Given the description of an element on the screen output the (x, y) to click on. 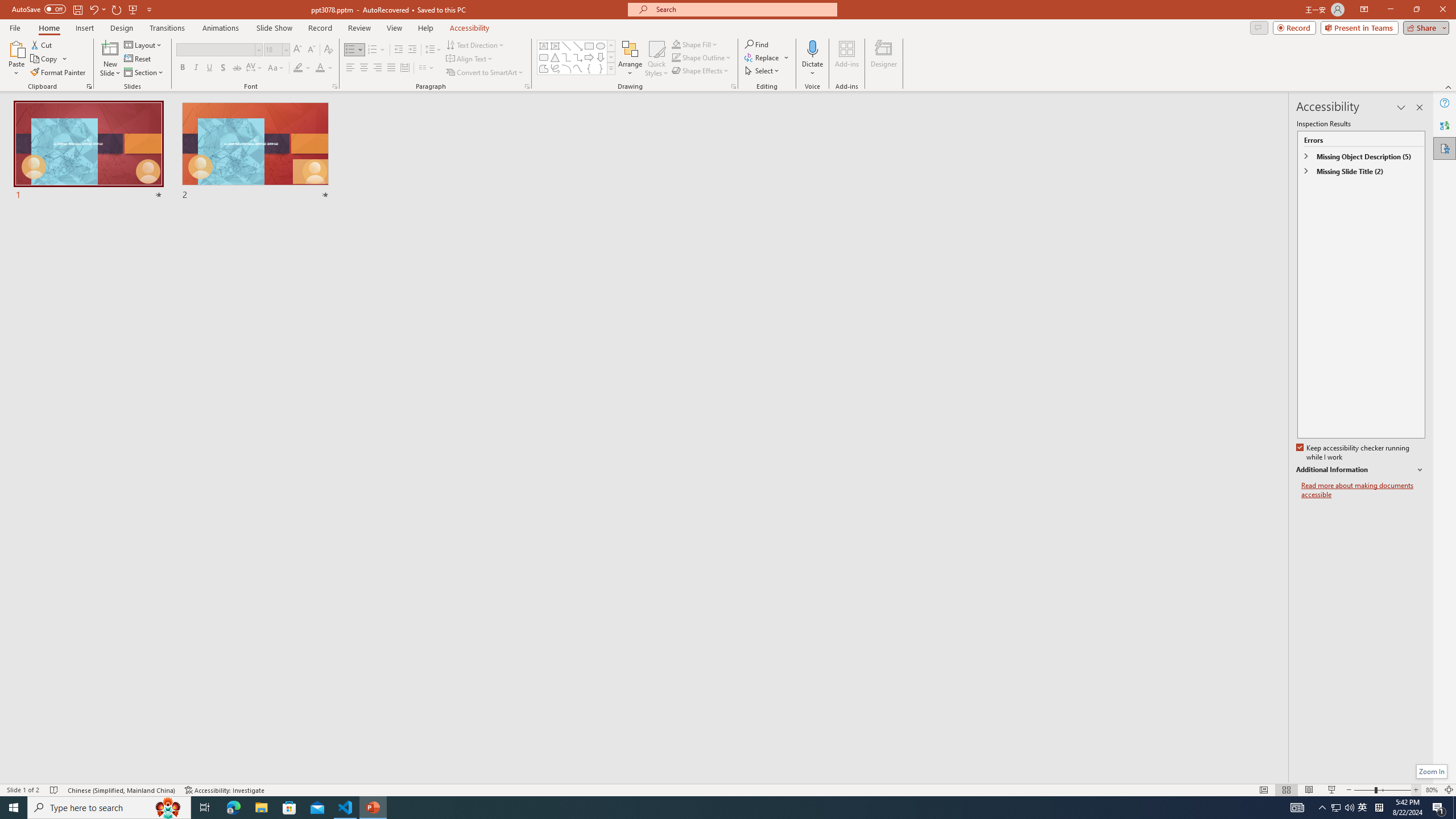
Read more about making documents accessible (1363, 489)
